Given the description of an element on the screen output the (x, y) to click on. 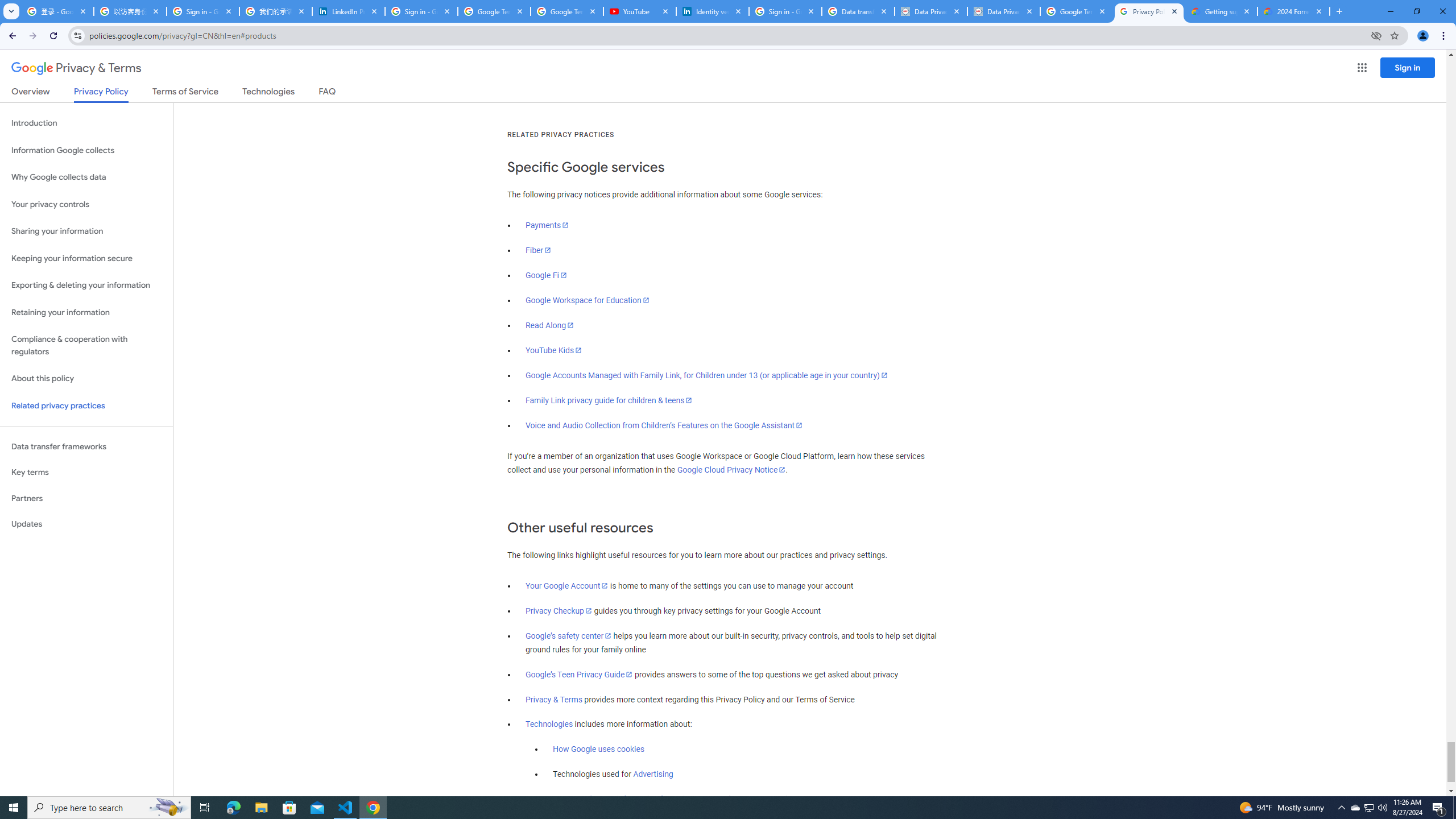
Exporting & deleting your information (86, 284)
Why Google collects data (86, 176)
Partners (86, 497)
Data Privacy Framework (1003, 11)
LinkedIn Privacy Policy (348, 11)
Compliance & cooperation with regulators (86, 345)
Identity verification via Persona | LinkedIn Help (712, 11)
Google Workspace for Education (587, 299)
